Given the description of an element on the screen output the (x, y) to click on. 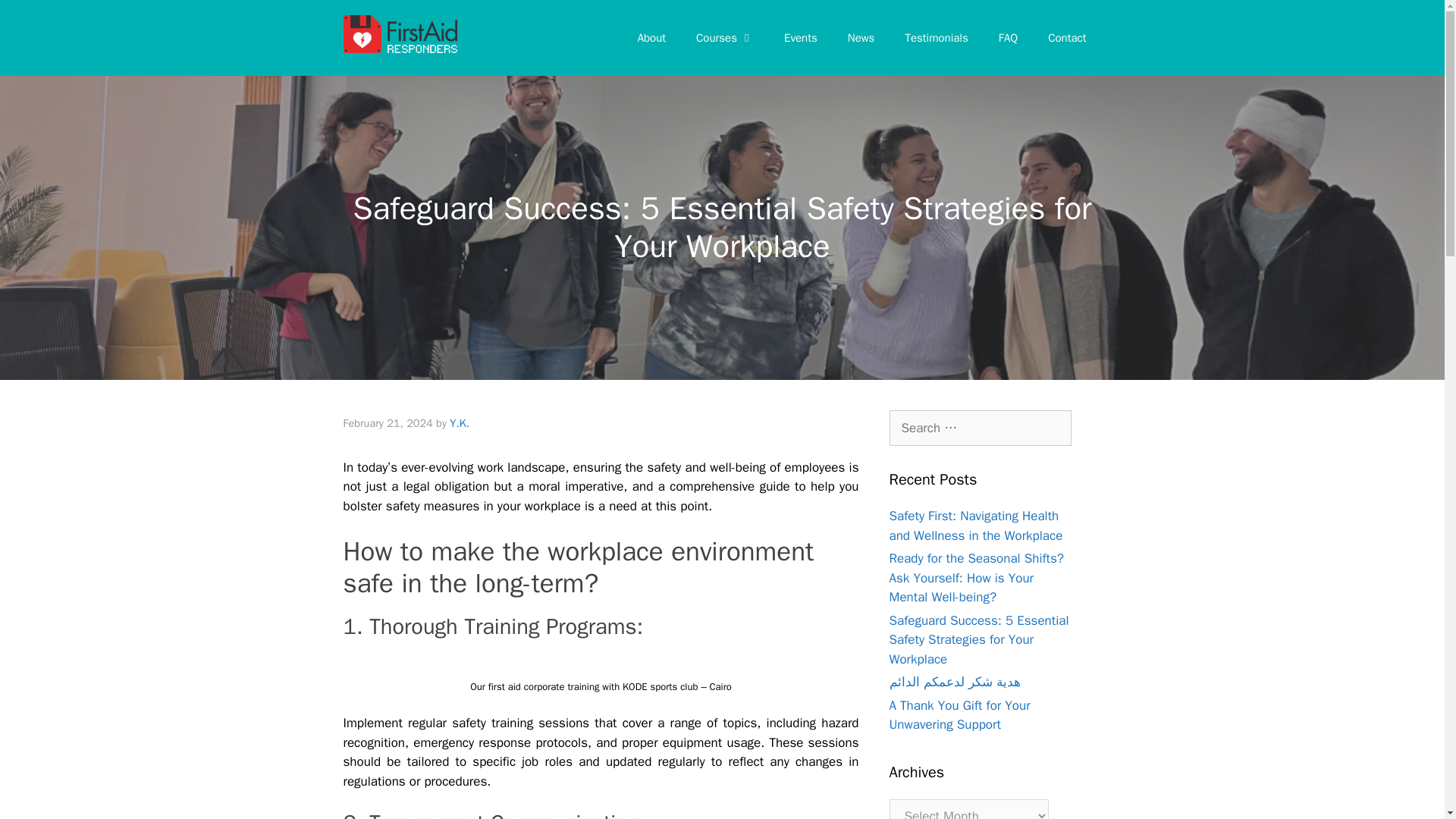
News (860, 37)
Events (800, 37)
Search for: (979, 428)
About (652, 37)
Y.K. (458, 422)
Courses (724, 37)
Contact (1066, 37)
A Thank You Gift for Your Unwavering Support (958, 715)
Search (35, 18)
